Given the description of an element on the screen output the (x, y) to click on. 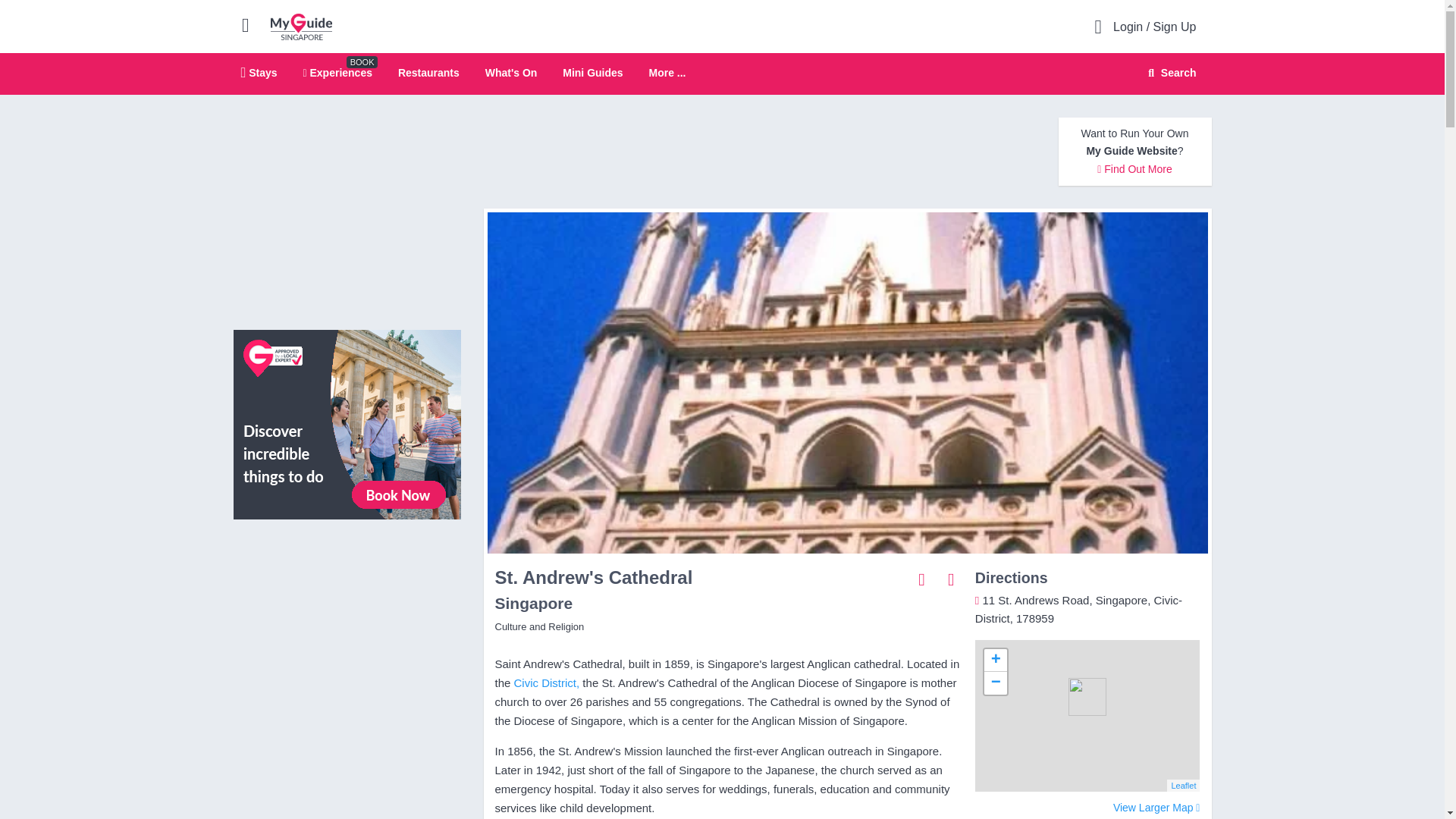
Experiences (337, 72)
Zoom out (995, 682)
Larger Map for Company: St. Andrew's Cathedral Singapore (1156, 808)
A JS library for interactive maps (1182, 785)
Search Website (1170, 73)
More ... (666, 72)
What's On (510, 72)
My Guide Singapore (300, 25)
Restaurants (428, 72)
Search (1169, 72)
Mini Guides (592, 72)
Zoom in (995, 660)
View All Experiences (346, 423)
